Given the description of an element on the screen output the (x, y) to click on. 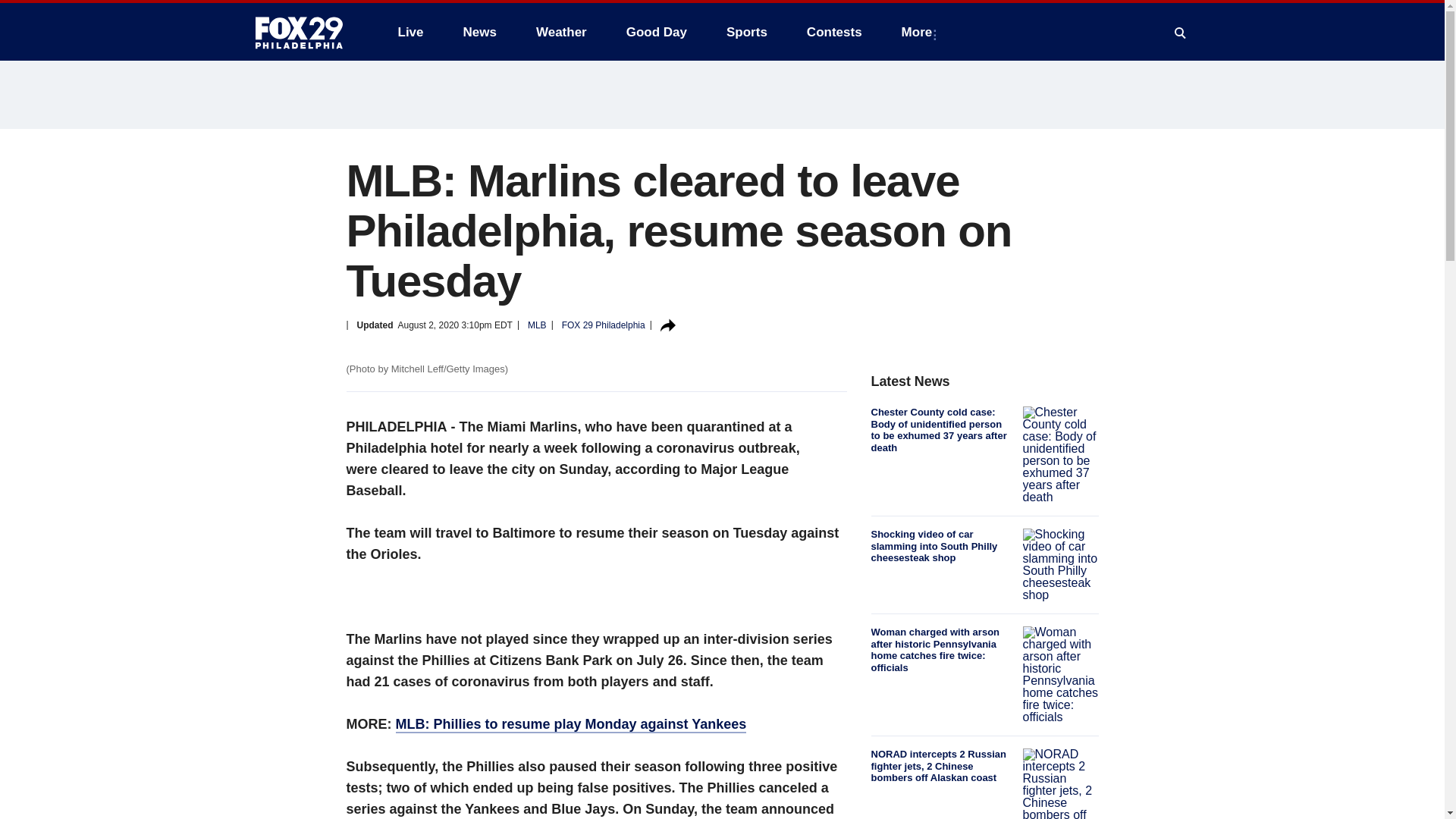
Weather (561, 32)
Good Day (656, 32)
More (919, 32)
News (479, 32)
Sports (746, 32)
Live (410, 32)
Contests (834, 32)
